Given the description of an element on the screen output the (x, y) to click on. 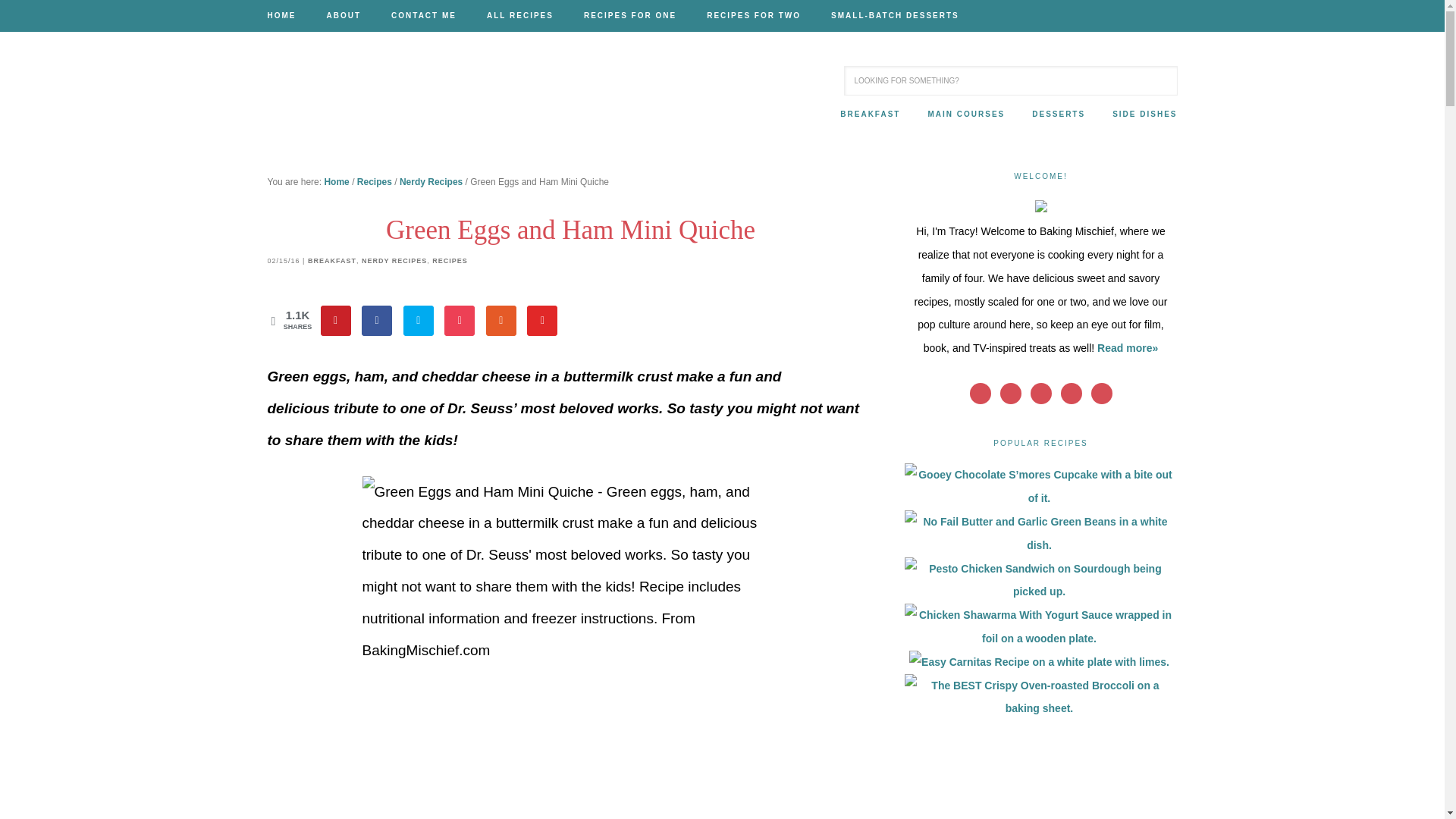
BREAKFAST (870, 114)
CONTACT ME (423, 15)
ALL RECIPES (520, 15)
SMALL-BATCH DESSERTS (887, 15)
ABOUT (343, 15)
RECIPES FOR TWO (753, 15)
MAIN COURSES (965, 114)
Baking Mischief (387, 100)
RECIPES FOR ONE (630, 15)
HOME (288, 15)
